Given the description of an element on the screen output the (x, y) to click on. 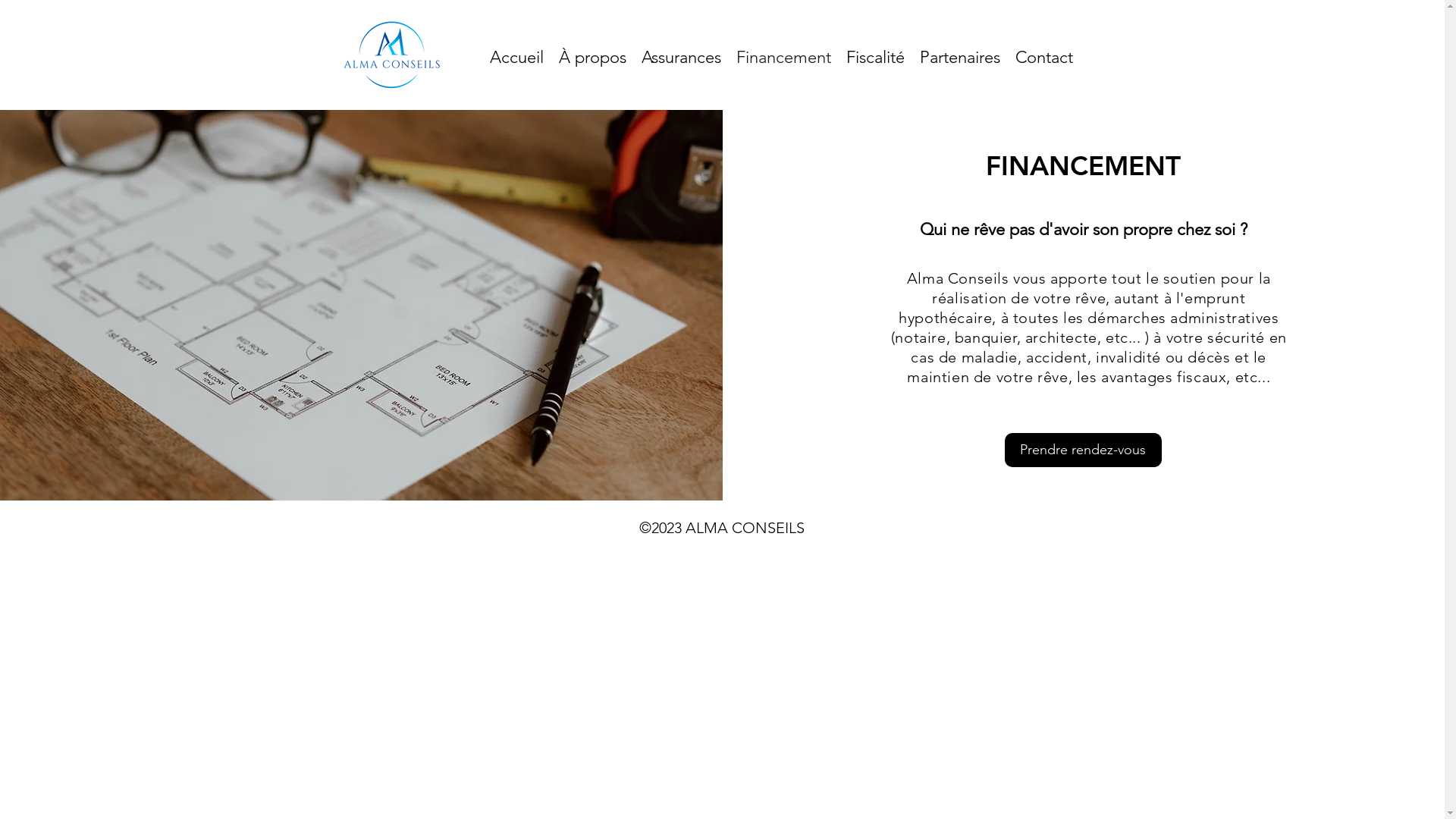
Partenaires Element type: text (959, 56)
Accueil Element type: text (516, 56)
Contact Element type: text (1043, 56)
Financement Element type: text (782, 56)
Prendre rendez-vous Element type: text (1082, 450)
